Given the description of an element on the screen output the (x, y) to click on. 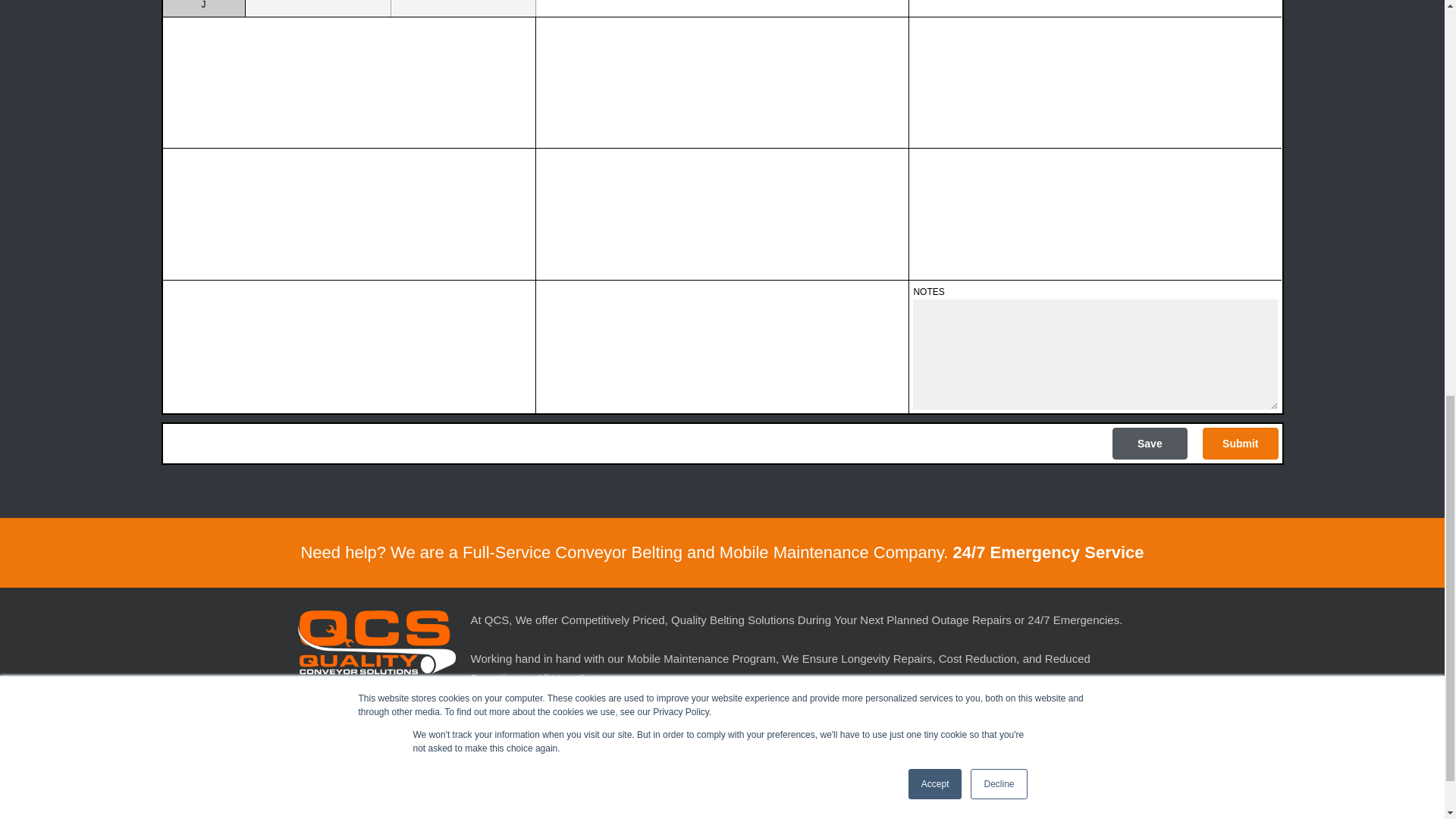
Save (1150, 443)
Report Cost Savings Event (361, 816)
Submit (1240, 443)
